Given the description of an element on the screen output the (x, y) to click on. 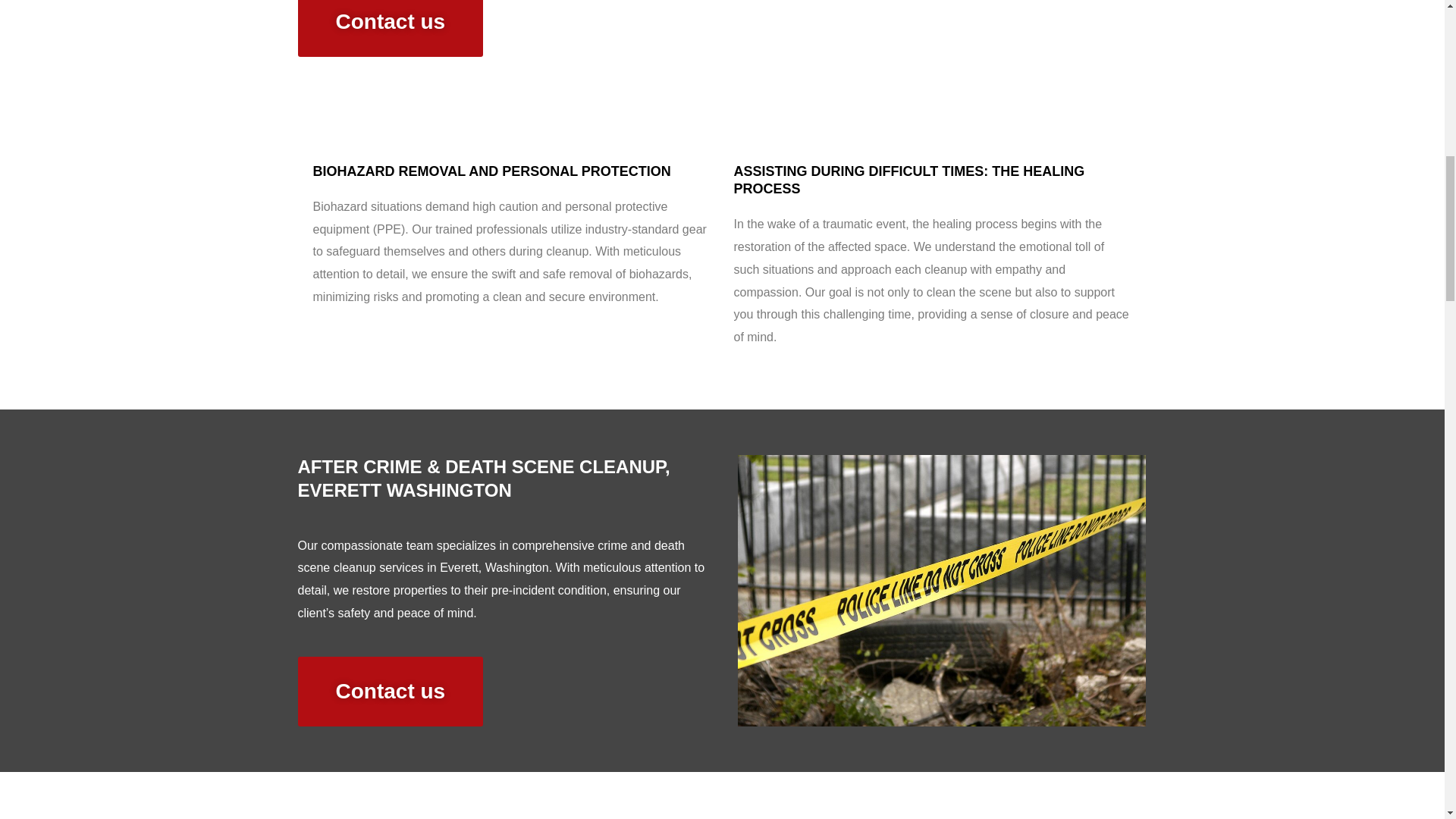
Contact us (390, 691)
Contact us (390, 28)
